Given the description of an element on the screen output the (x, y) to click on. 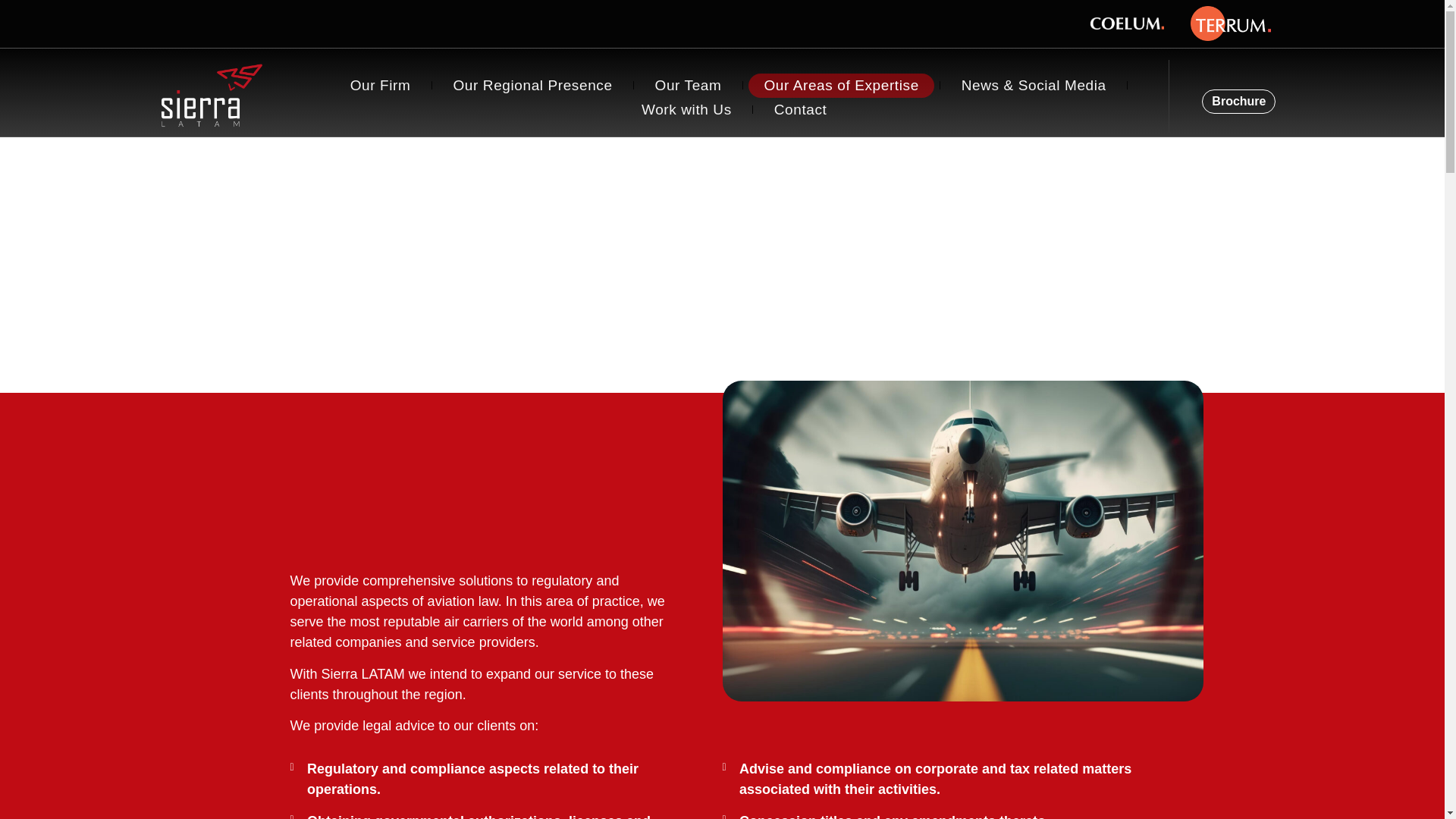
Work with Us (686, 109)
Brochure (1238, 101)
Our Areas of Expertise (840, 84)
Contact (800, 109)
Page 6 (487, 653)
Our Firm (380, 84)
Our Team (688, 84)
Our Regional Presence (532, 84)
